Given the description of an element on the screen output the (x, y) to click on. 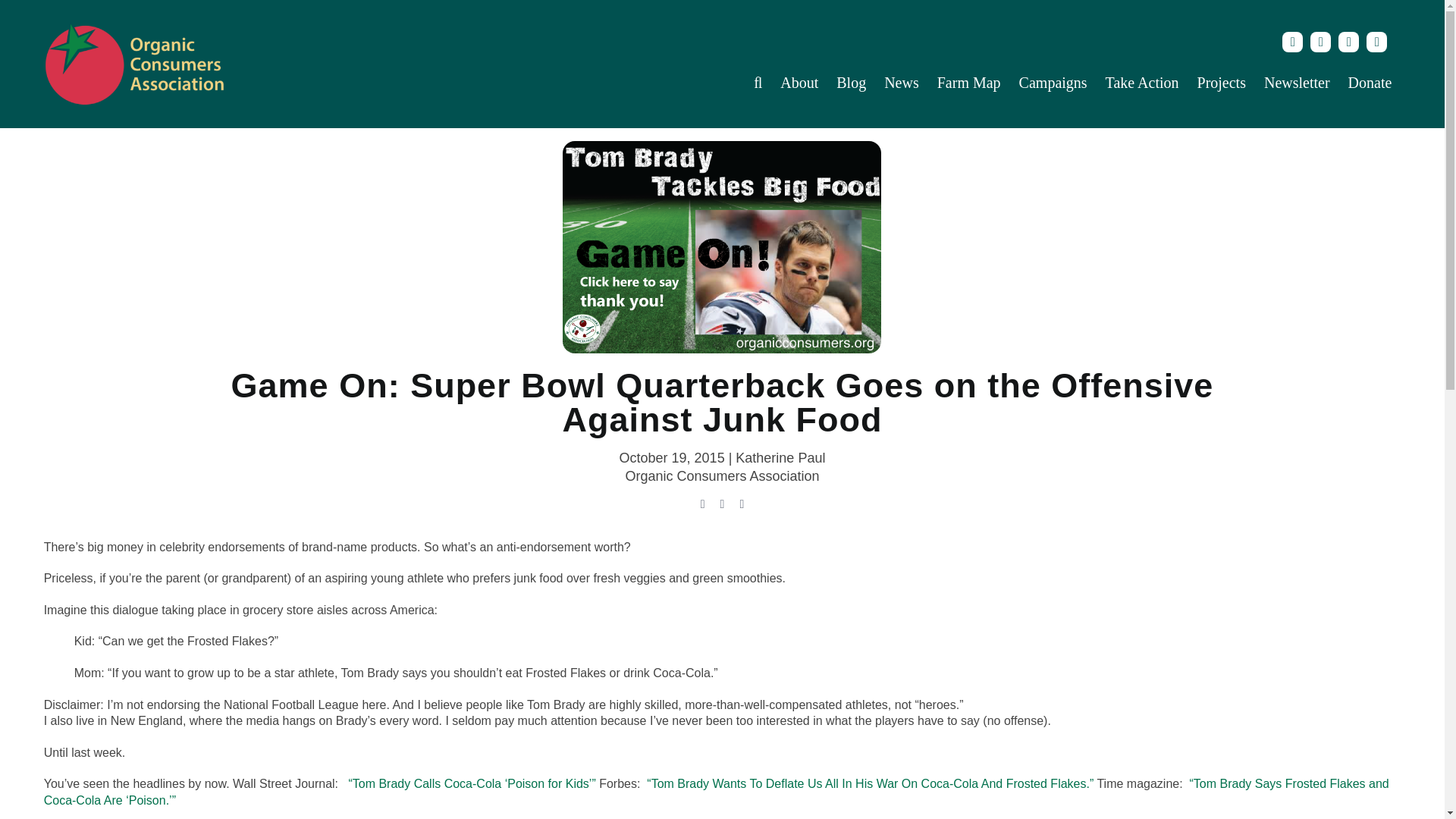
Farm Map (969, 82)
About (799, 82)
Campaigns (1053, 82)
